Given the description of an element on the screen output the (x, y) to click on. 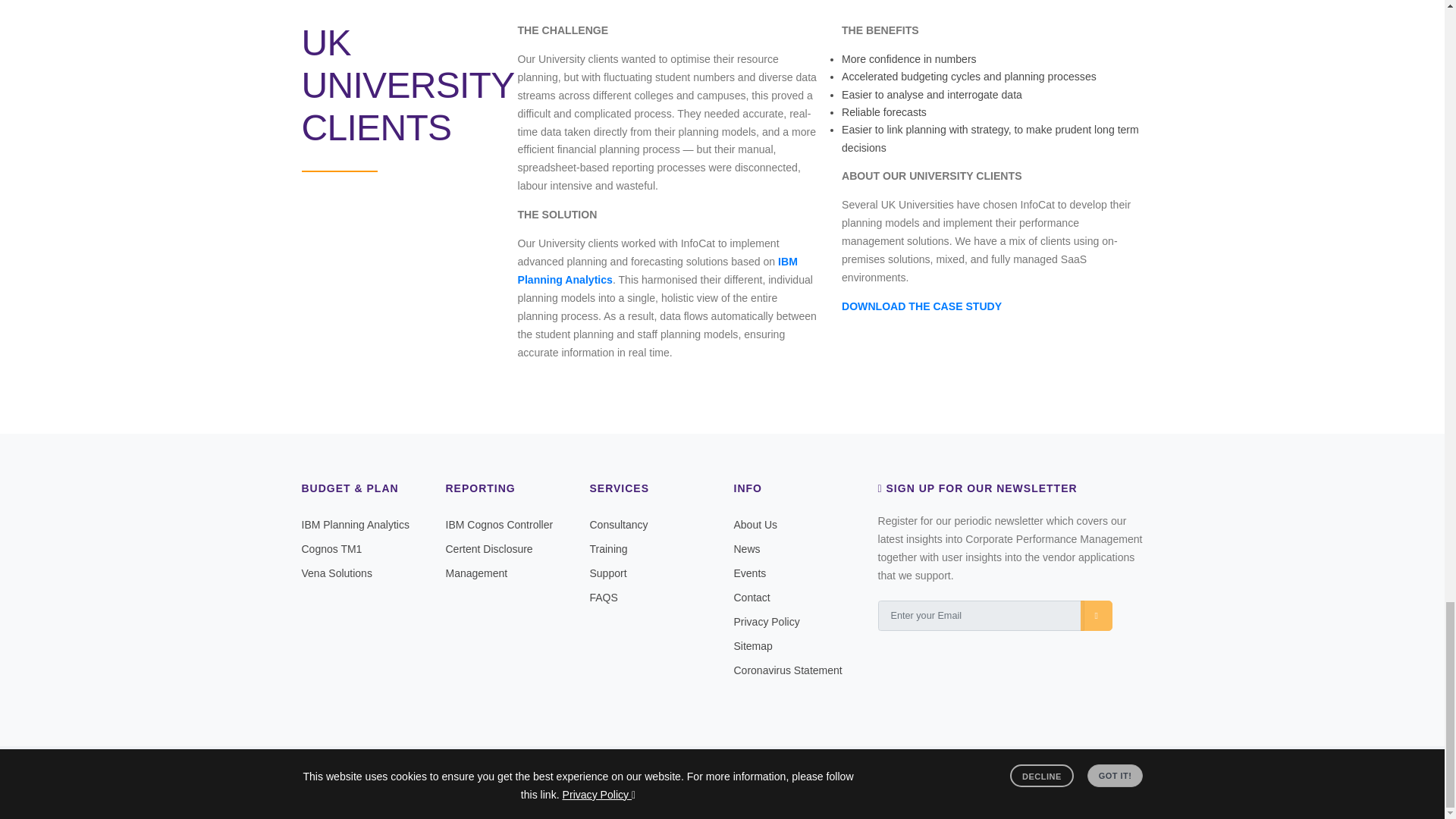
Training (608, 548)
Certent Disclosure Management (488, 560)
IBM Planning Analytics (656, 270)
Consultancy (618, 524)
Support (608, 573)
Events (750, 573)
About Us (755, 524)
News (746, 548)
FAQS (603, 597)
IBM Planning Analytics (656, 270)
IBM Cognos Controller (499, 524)
IBM Planning Analytics (355, 524)
Privacy Policy (766, 621)
Vena Solutions (336, 573)
Contact (751, 597)
